Given the description of an element on the screen output the (x, y) to click on. 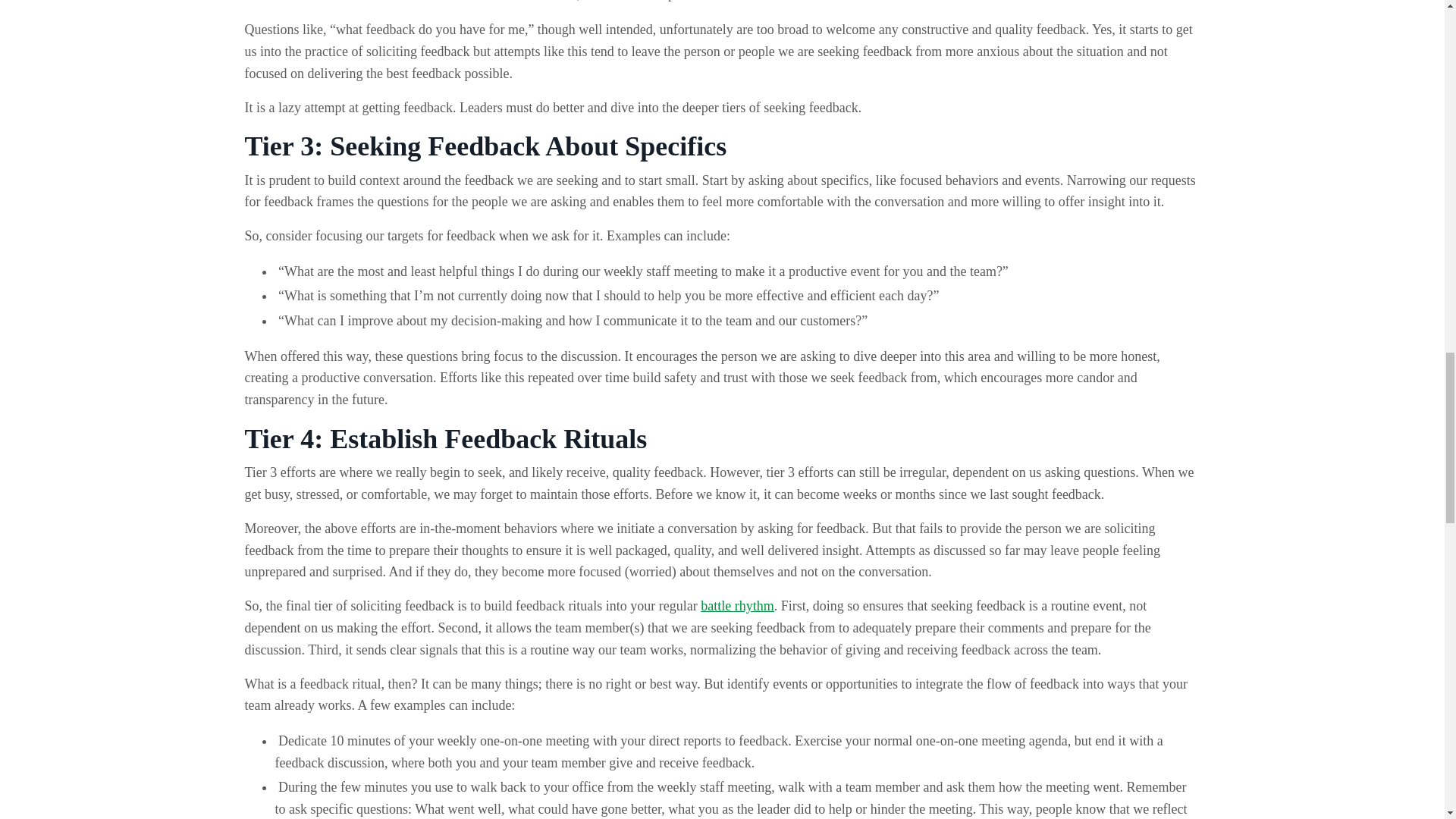
battle rhythm (736, 605)
